Given the description of an element on the screen output the (x, y) to click on. 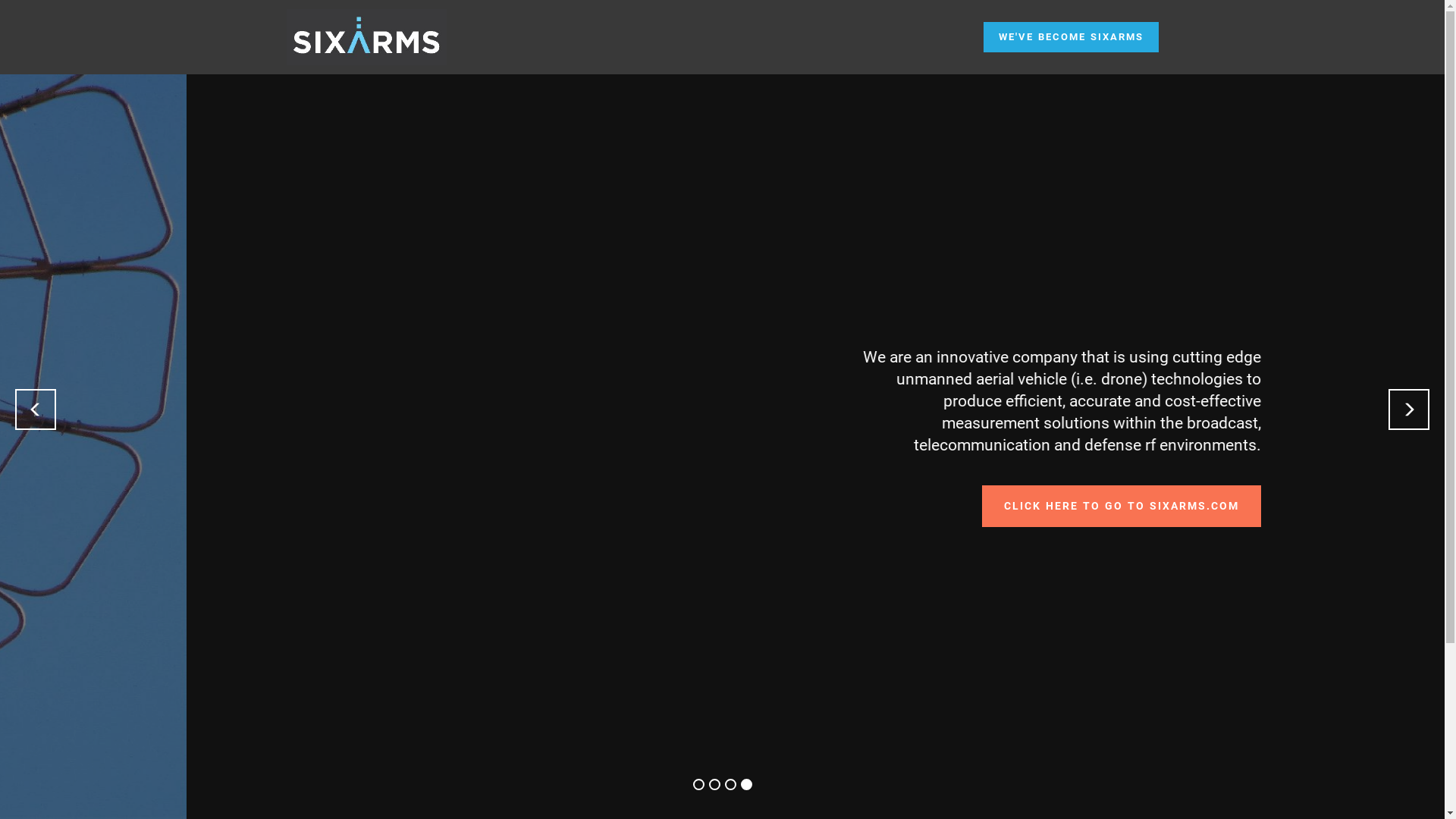
CLICK HERE TO GO TO SIXARMS.COM Element type: text (322, 506)
WE'VE BECOME SIXARMS Element type: text (1069, 37)
Previous Element type: text (35, 409)
Next Element type: text (1408, 409)
